Given the description of an element on the screen output the (x, y) to click on. 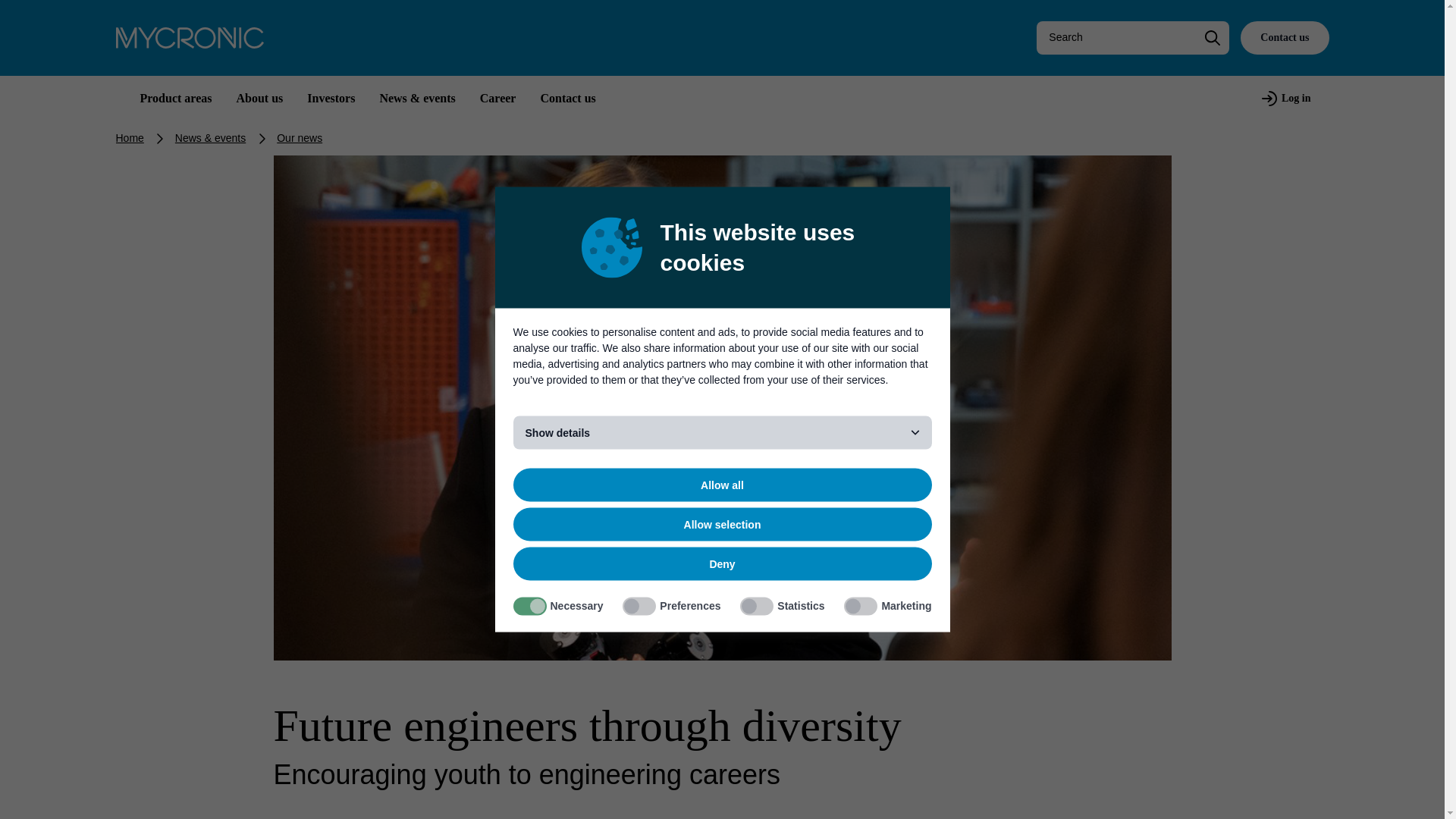
Contact us (1283, 37)
Deny (721, 563)
Allow all (721, 485)
Allow selection (721, 524)
